Given the description of an element on the screen output the (x, y) to click on. 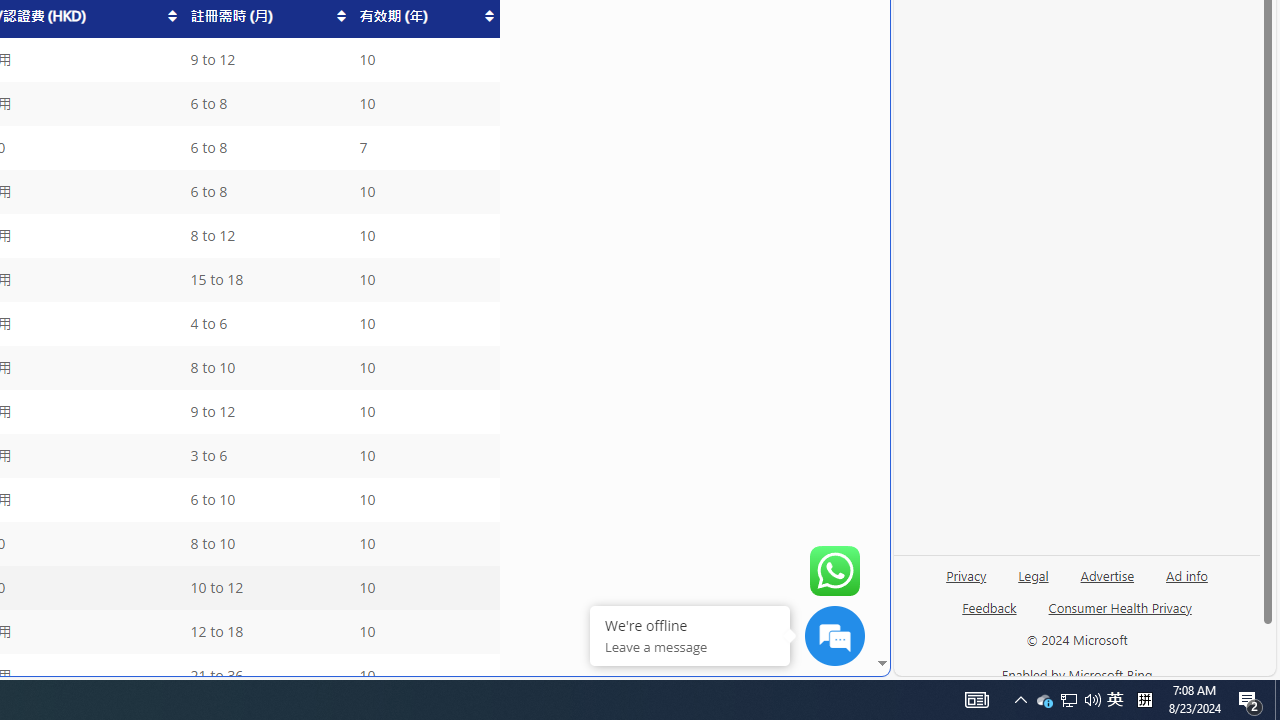
google_privacy_policy_zh-CN.pdf (687, 482)
15 to 18 (266, 280)
Legal (1033, 574)
Feedback (988, 615)
Advertise (1107, 574)
9 to 12 (266, 412)
8 to 12 (266, 236)
10 to 12 (266, 588)
7 (425, 148)
6 to 10 (266, 500)
21 to 36 (266, 676)
MSN (687, 223)
Advertise (1106, 583)
8 to 10 (266, 544)
Legal (1033, 583)
